Given the description of an element on the screen output the (x, y) to click on. 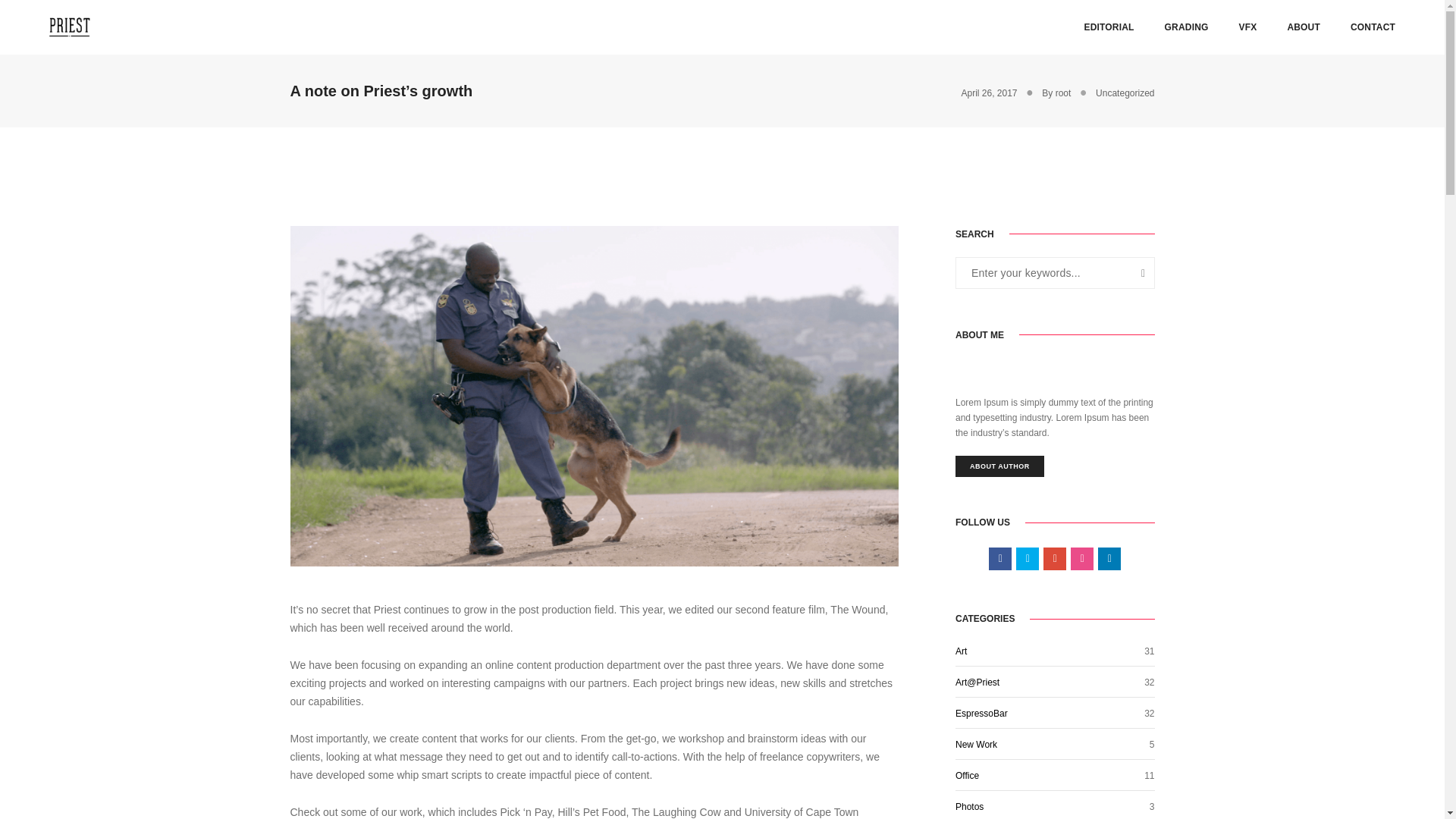
Uncategorized (1125, 92)
EDITORIAL (1109, 27)
root (1063, 92)
Priest Post Production (69, 26)
